Given the description of an element on the screen output the (x, y) to click on. 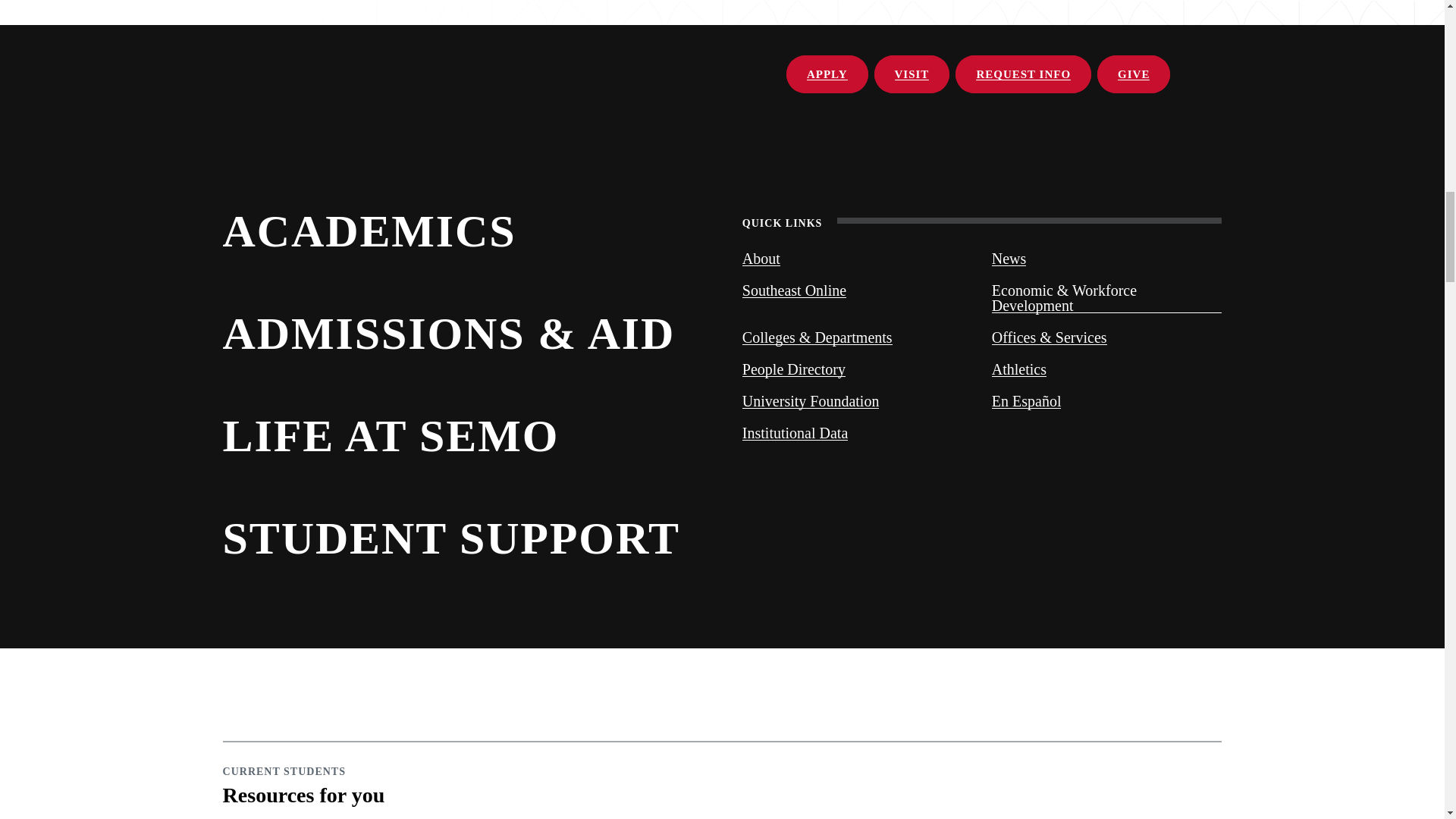
REQUEST INFO (1022, 74)
ACADEMICS (462, 229)
VISIT (912, 74)
GIVE (1133, 74)
APPLY (826, 74)
